Given the description of an element on the screen output the (x, y) to click on. 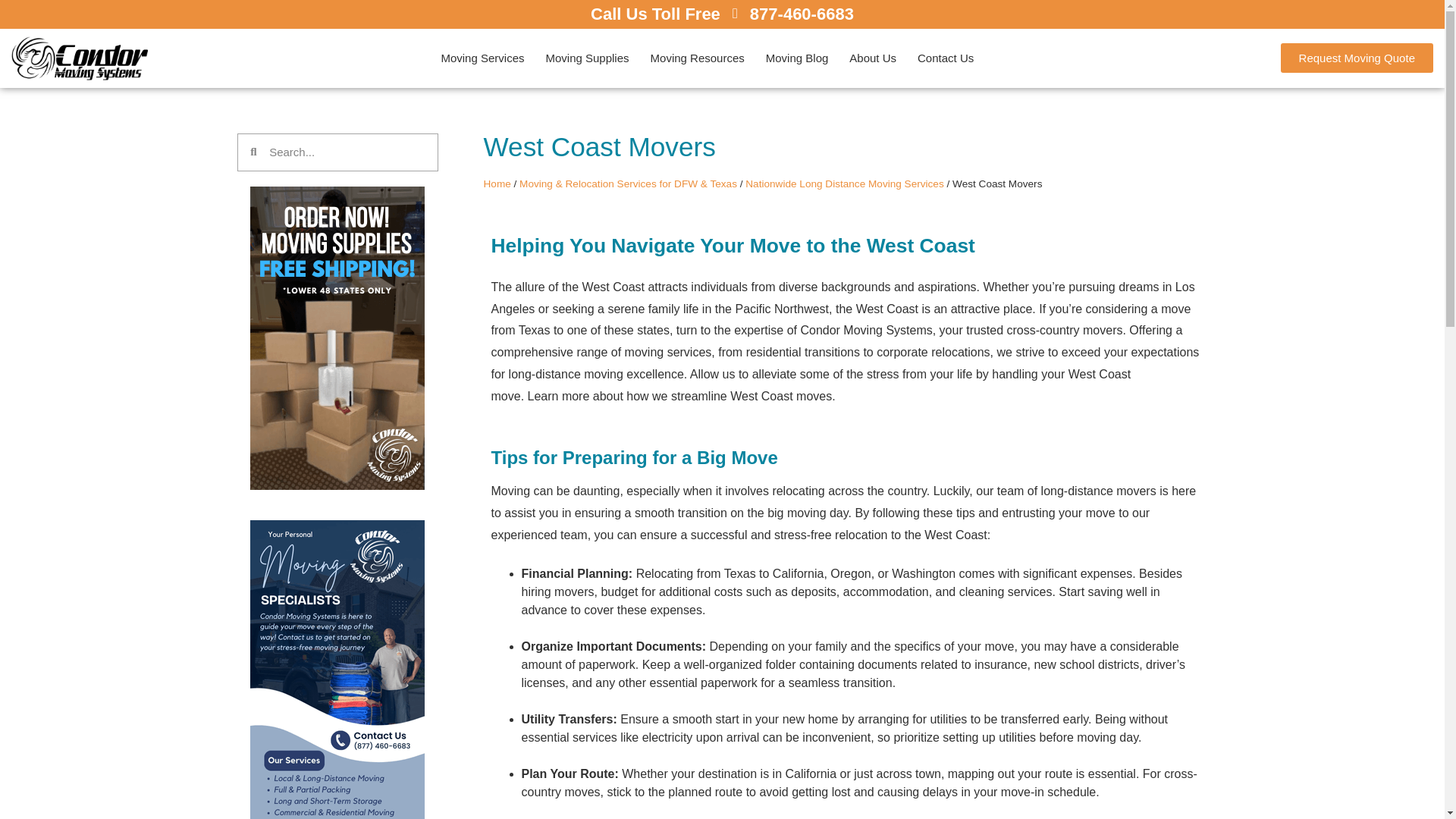
877-460-6683 (801, 13)
Call Us Toll Free (655, 13)
Search (346, 152)
Moving Services (481, 57)
